Given the description of an element on the screen output the (x, y) to click on. 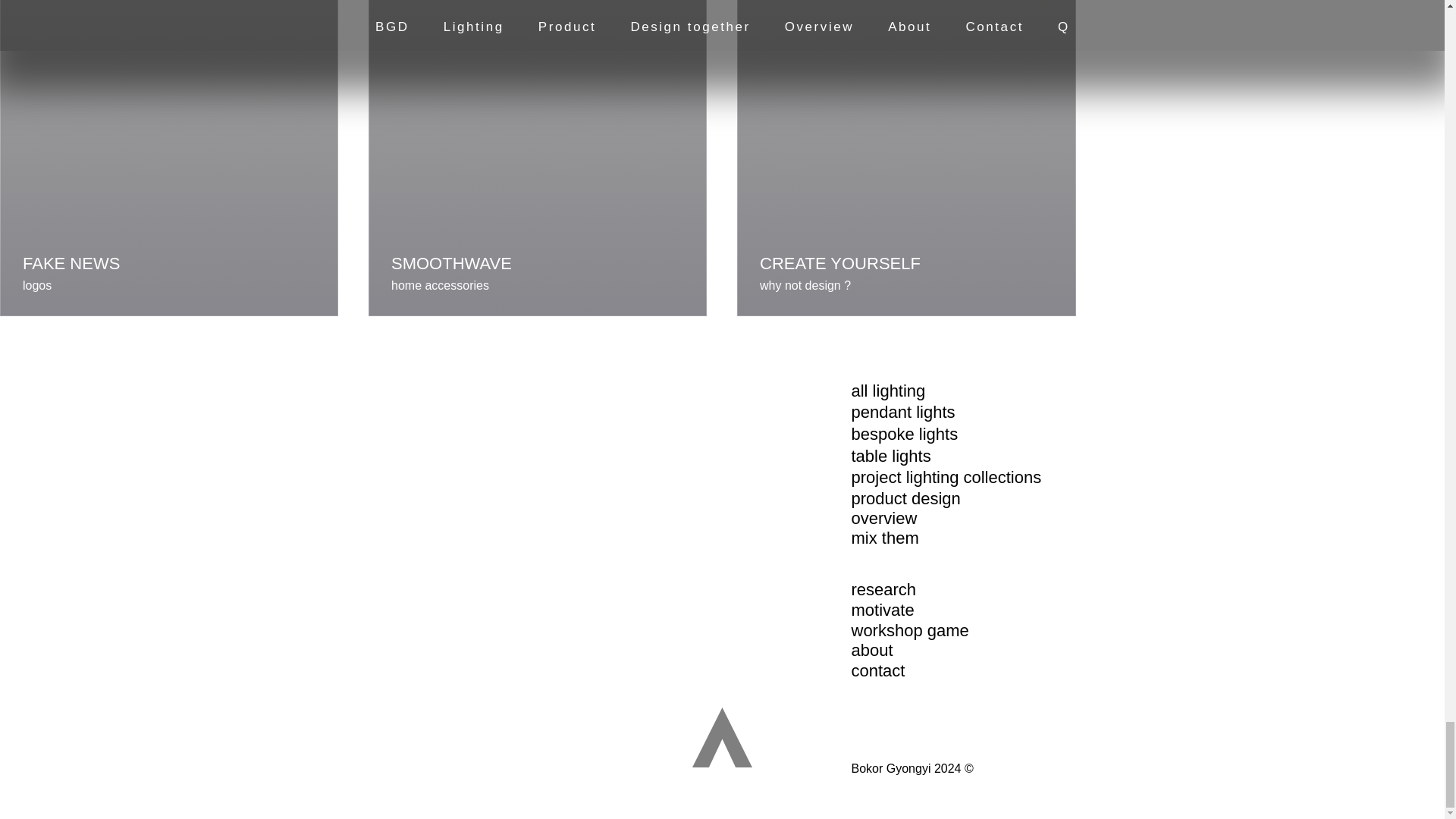
pendant lights (902, 411)
all lighting (887, 390)
table lights (890, 456)
bespoke lights (904, 434)
product design (904, 497)
project lighting collections (945, 476)
